Given the description of an element on the screen output the (x, y) to click on. 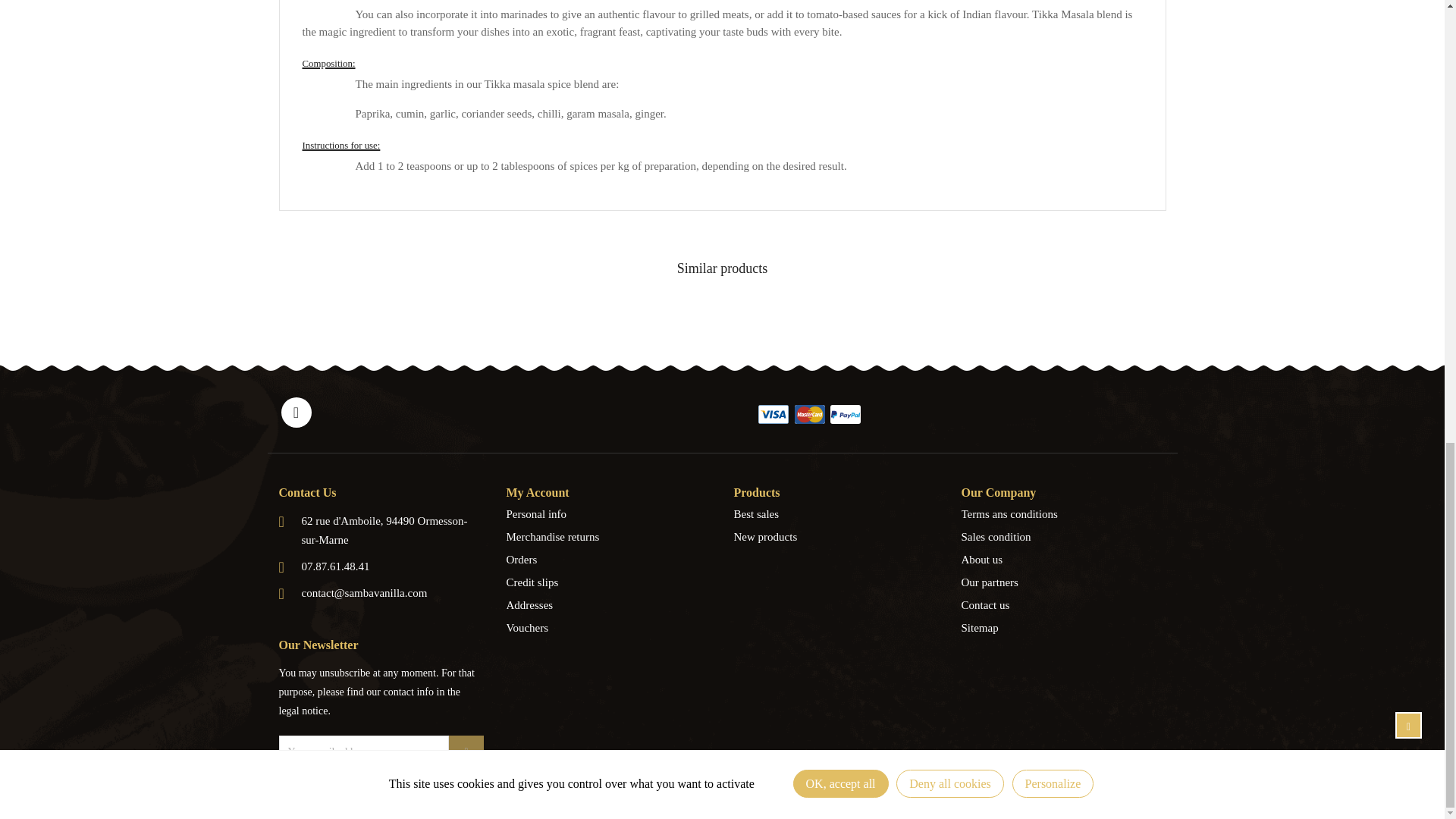
Vouchers (608, 627)
Addresses (608, 604)
Facebook (296, 412)
Orders (608, 558)
Merchandise returns (608, 536)
Credit slips (608, 581)
Personal info (608, 513)
Our best sales (836, 513)
